Given the description of an element on the screen output the (x, y) to click on. 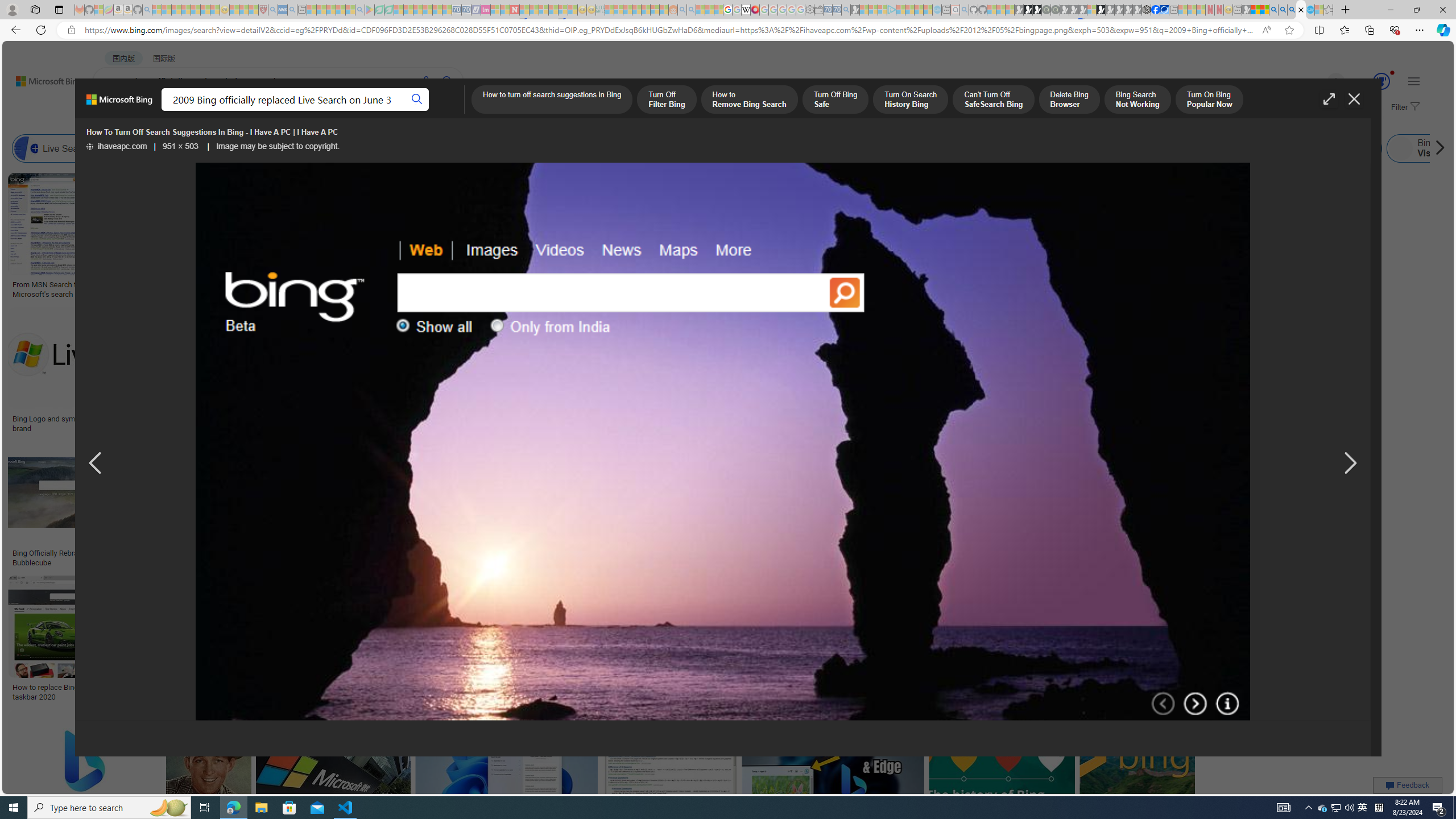
Bing Image Search Similar Images (894, 148)
2009 Bing officially replaced Live Search on June 3 - Search (1283, 9)
WEB (114, 111)
Microsoft Bing Search | Enfew (1162, 423)
